Given the description of an element on the screen output the (x, y) to click on. 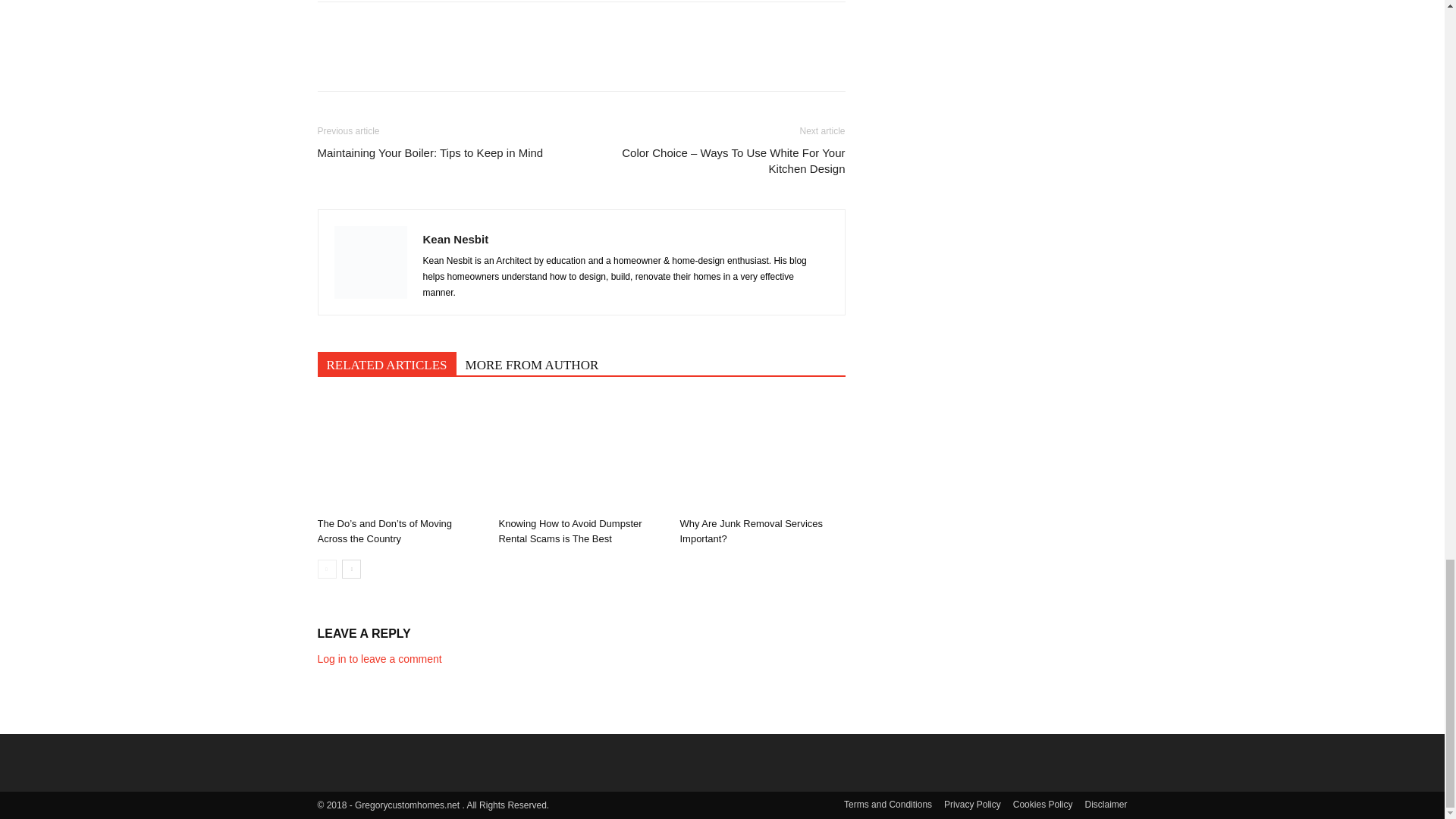
bottomFacebookLike (430, 26)
MORE FROM AUTHOR (532, 363)
Maintaining Your Boiler: Tips to Keep in Mind (430, 152)
Knowing How to Avoid Dumpster Rental Scams is The Best (580, 454)
RELATED ARTICLES (386, 363)
Kean Nesbit (456, 238)
